Given the description of an element on the screen output the (x, y) to click on. 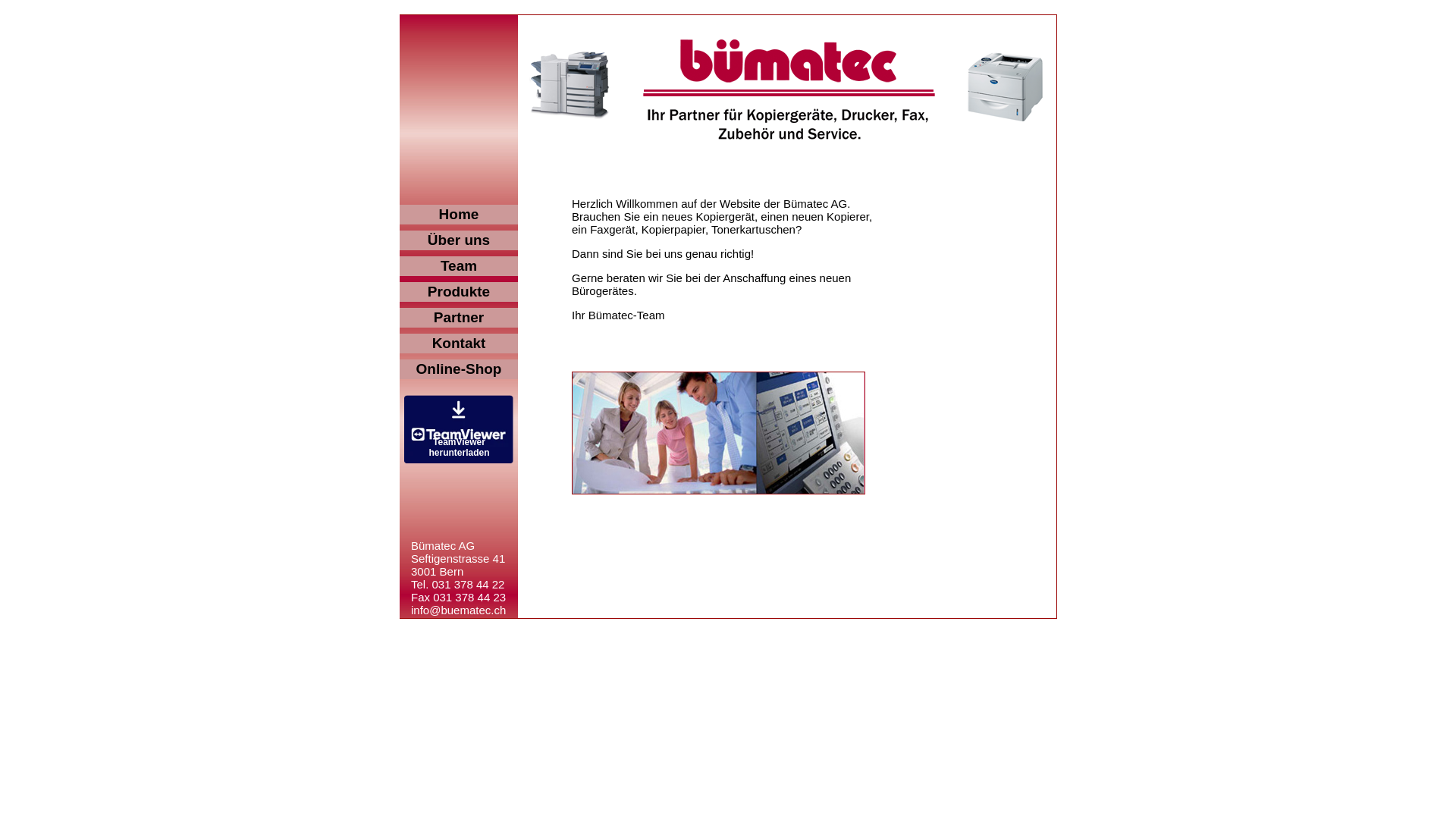
Produkte Element type: text (458, 291)
Remote Support mit TeamViewer Element type: hover (458, 429)
www.buematec.ch Element type: text (457, 622)
Team Element type: text (458, 266)
Online-Shop Element type: text (458, 369)
info@buematec.ch Element type: text (458, 609)
Home Element type: text (458, 214)
TeamViewer herunterladen Element type: text (458, 458)
Partner Element type: text (458, 317)
Kontakt Element type: text (458, 343)
